Given the description of an element on the screen output the (x, y) to click on. 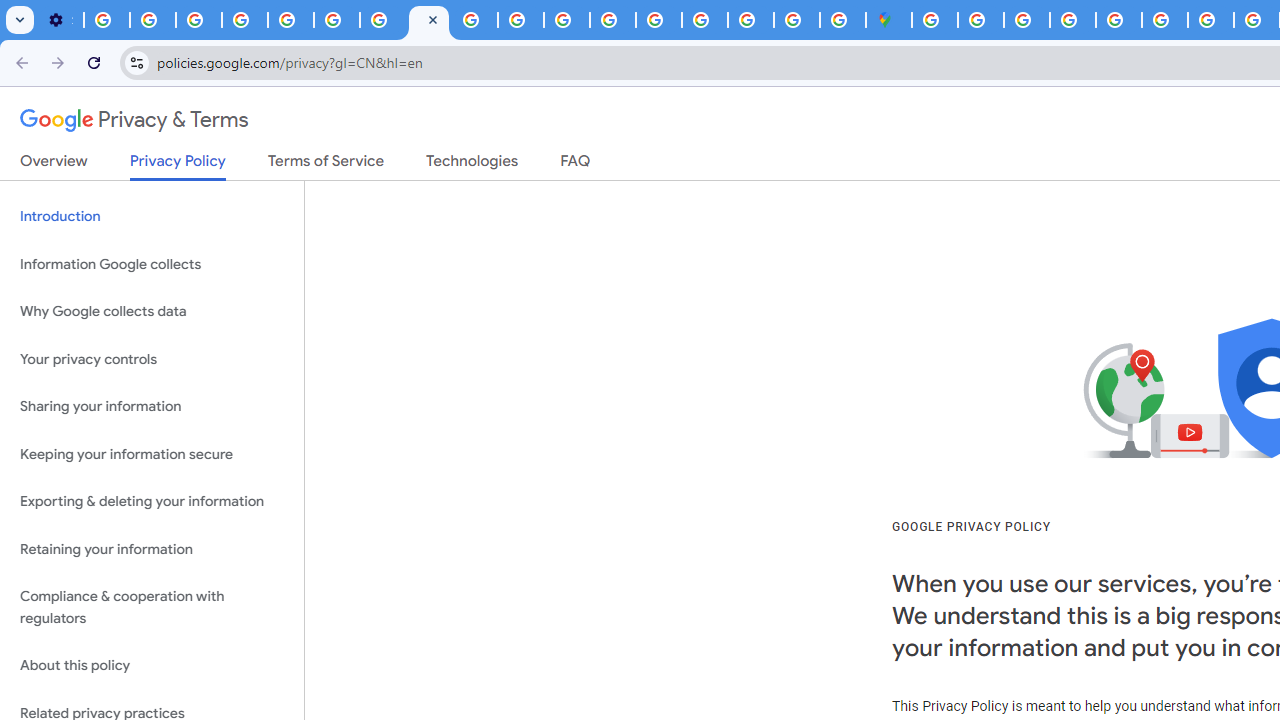
Sign in - Google Accounts (980, 20)
Compliance & cooperation with regulators (152, 607)
Learn how to find your photos - Google Photos Help (153, 20)
Why Google collects data (152, 312)
Sign in - Google Accounts (705, 20)
Delete photos & videos - Computer - Google Photos Help (107, 20)
Keeping your information secure (152, 453)
